Given the description of an element on the screen output the (x, y) to click on. 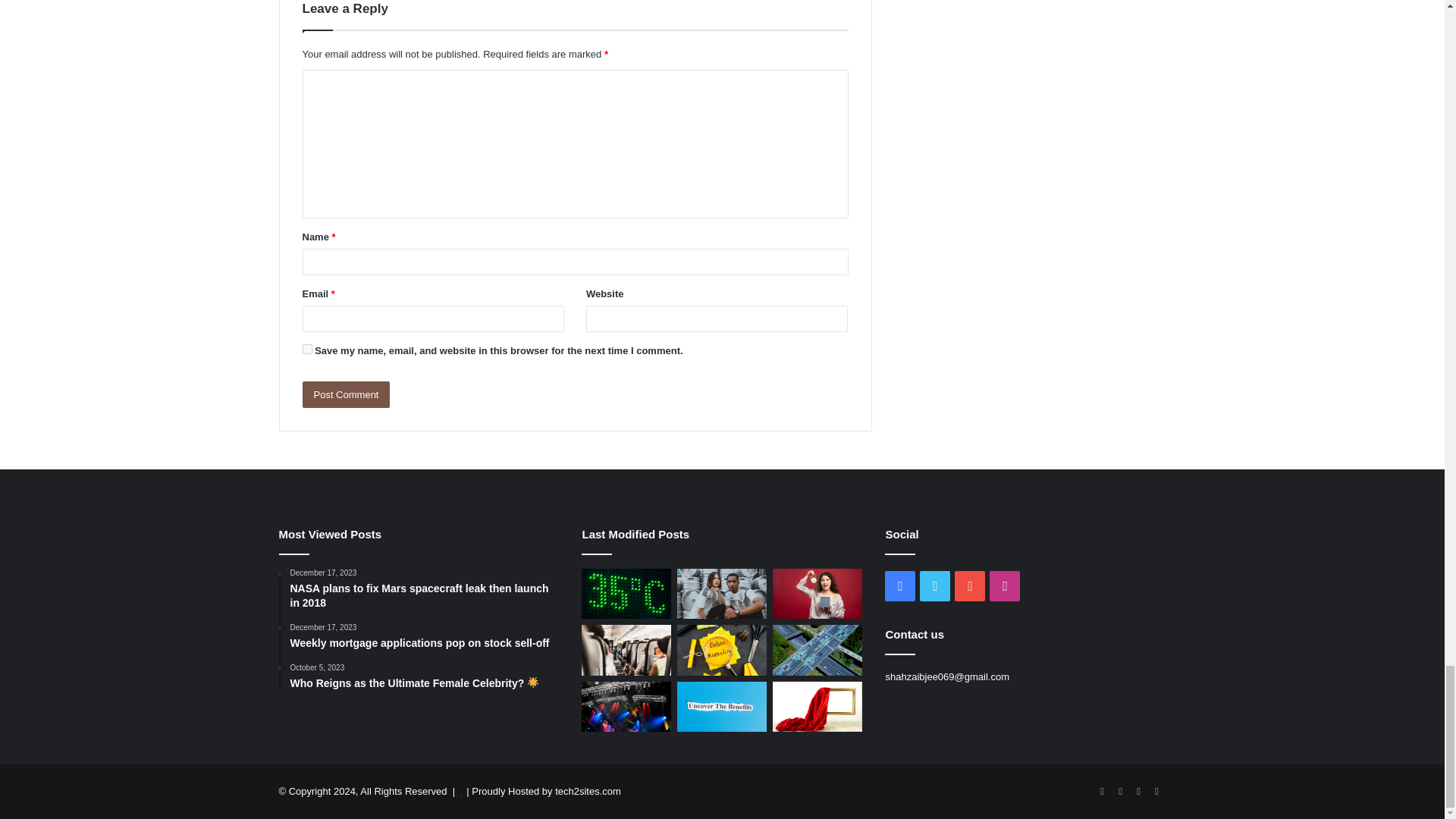
Post Comment (345, 394)
yes (306, 348)
